Given the description of an element on the screen output the (x, y) to click on. 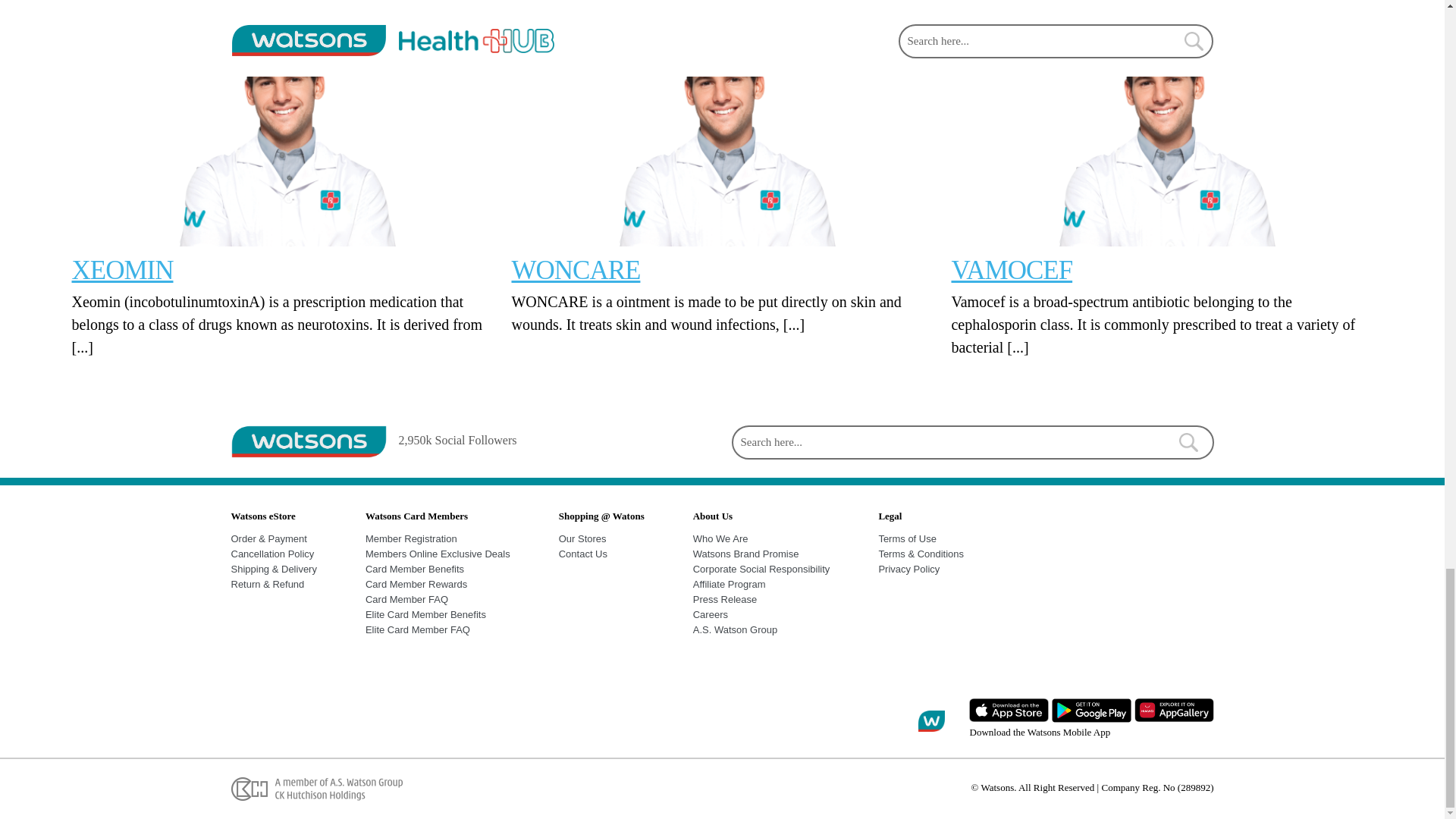
XEOMIN (122, 270)
Card Member Benefits (414, 568)
Card Member Rewards (416, 583)
VAMOCEF (1010, 270)
XEOMIN (282, 123)
Elite Card Member Benefits (425, 614)
WONCARE (575, 270)
VAMOCEF (1010, 270)
Elite Card Member FAQ (417, 629)
Members Online Exclusive Deals (438, 553)
WONCARE (722, 123)
Member Registration (411, 538)
Cancellation Policy (272, 553)
Card Member FAQ (406, 599)
WONCARE (575, 270)
